Given the description of an element on the screen output the (x, y) to click on. 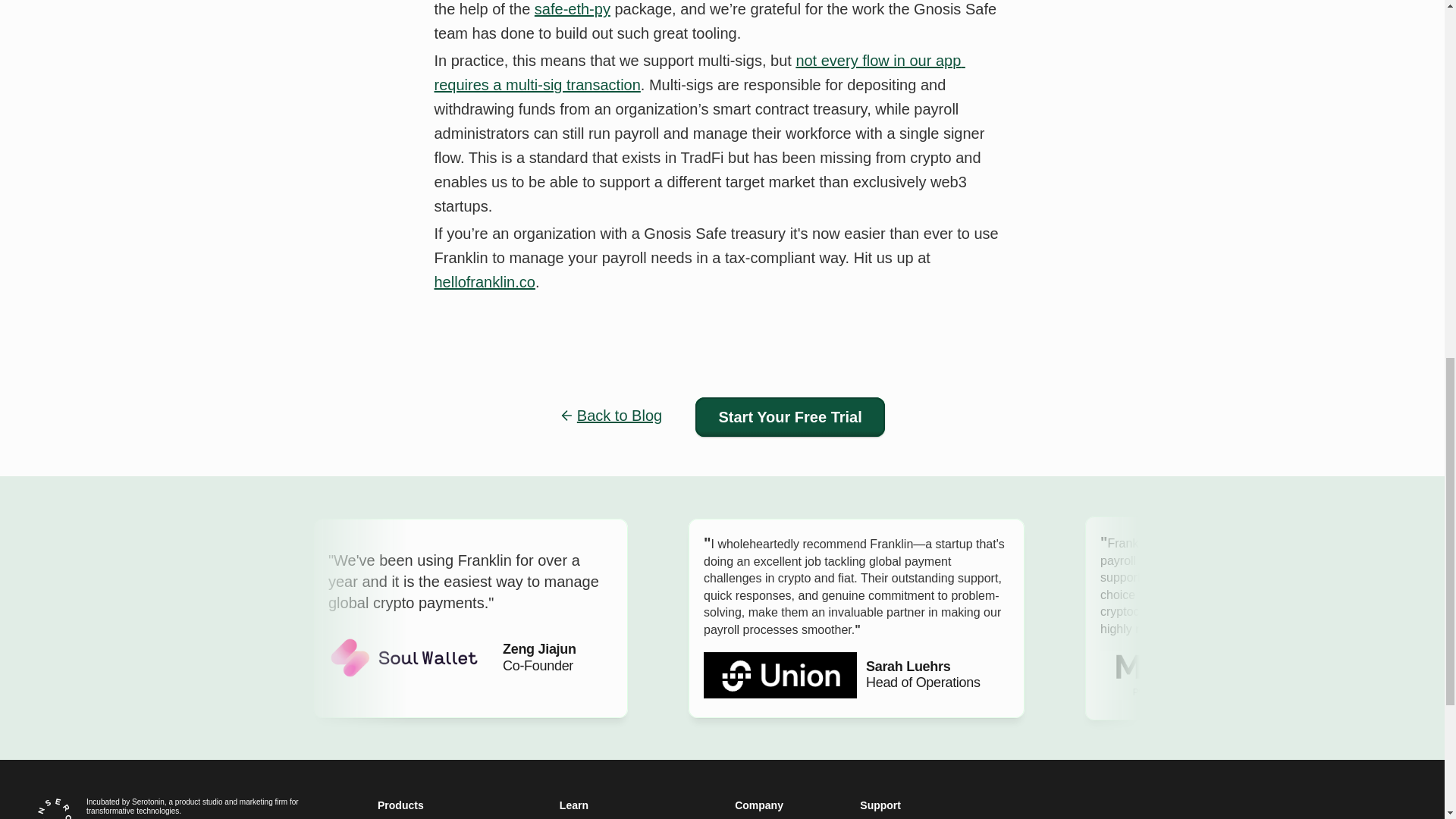
hellofranklin.co (483, 281)
Start Your Free Trial (790, 416)
not every flow in our app requires a multi-sig transaction (698, 72)
Back to Blog (619, 415)
safe-eth-py (572, 8)
